Given the description of an element on the screen output the (x, y) to click on. 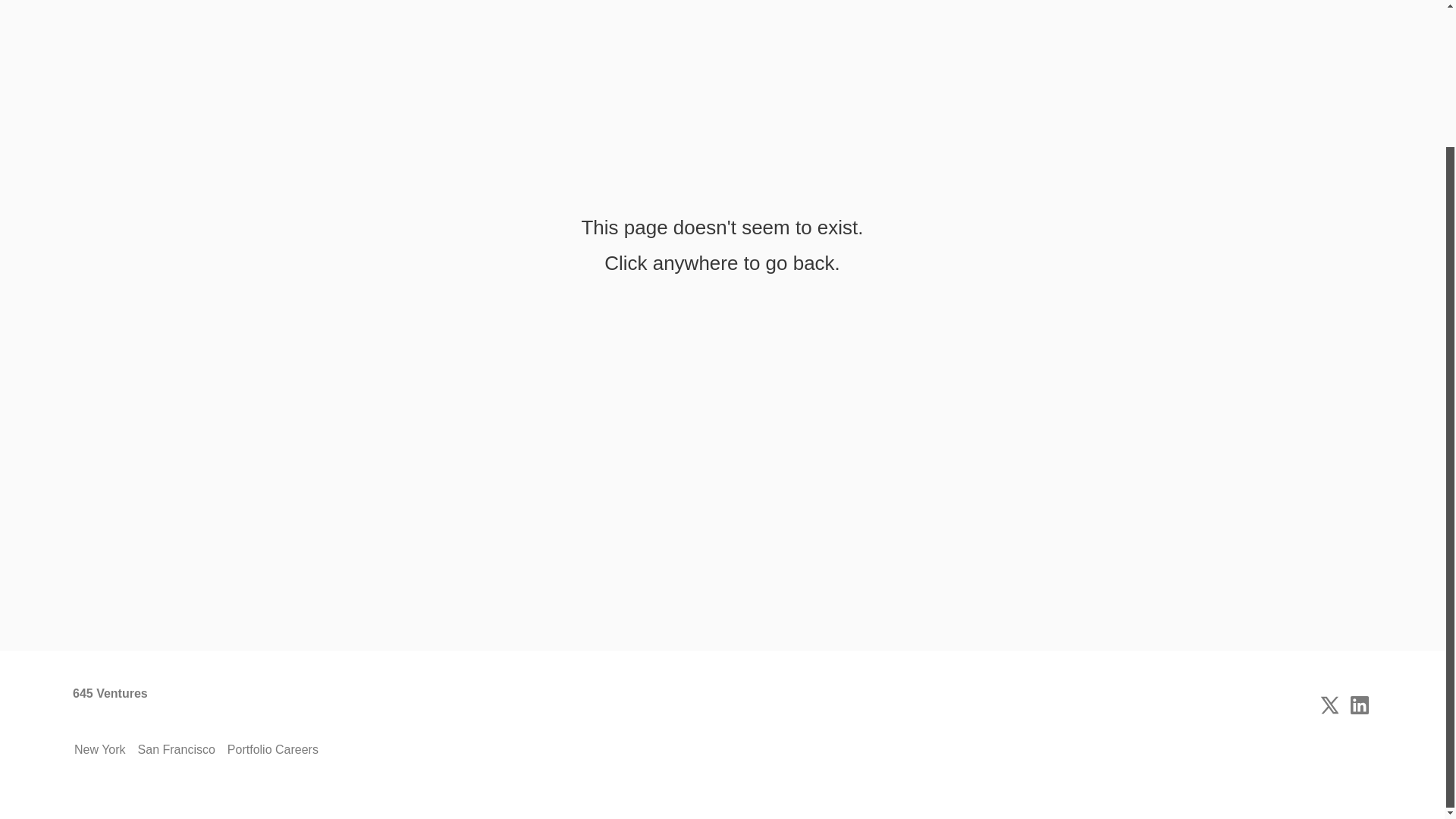
LinkedIn (1359, 705)
645 Ventures (110, 705)
X (1329, 705)
San Francisco (176, 750)
Portfolio Careers (272, 750)
X (1329, 705)
New York (100, 750)
LinkedIn (1359, 705)
